Given the description of an element on the screen output the (x, y) to click on. 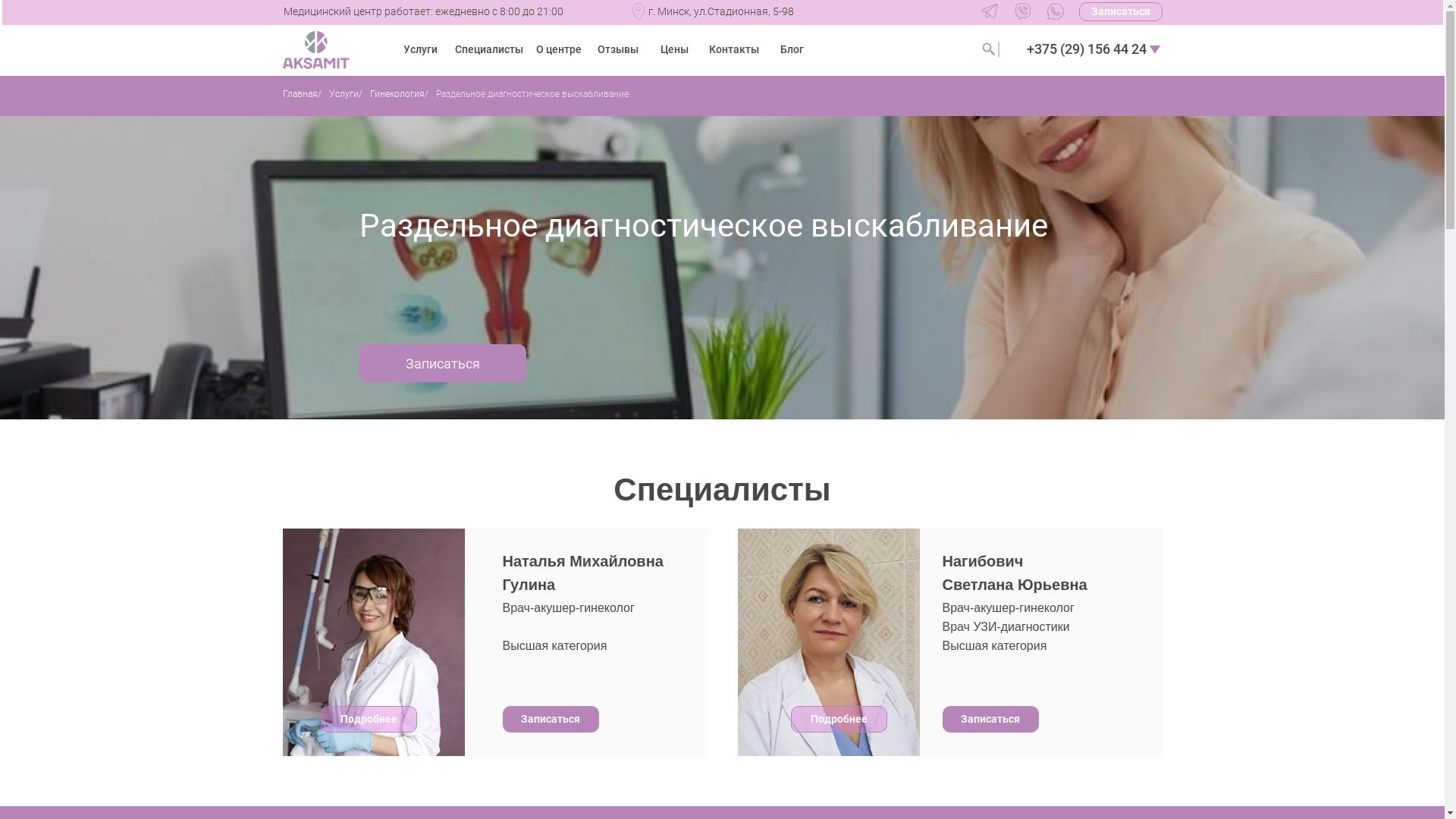
+375 (29) 156 44 24 Element type: text (1085, 48)
